Given the description of an element on the screen output the (x, y) to click on. 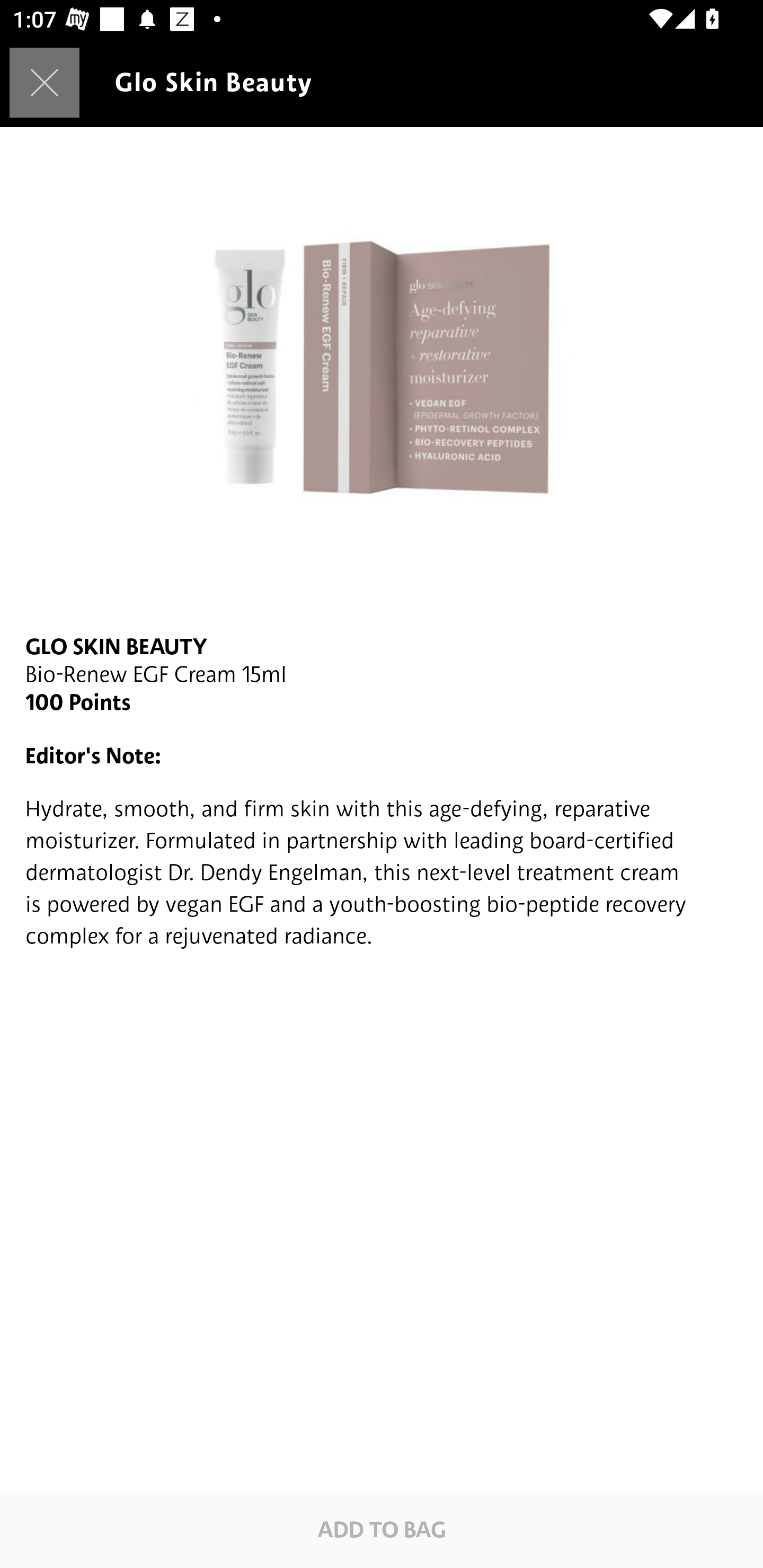
ADD TO BAG (381, 1529)
